Given the description of an element on the screen output the (x, y) to click on. 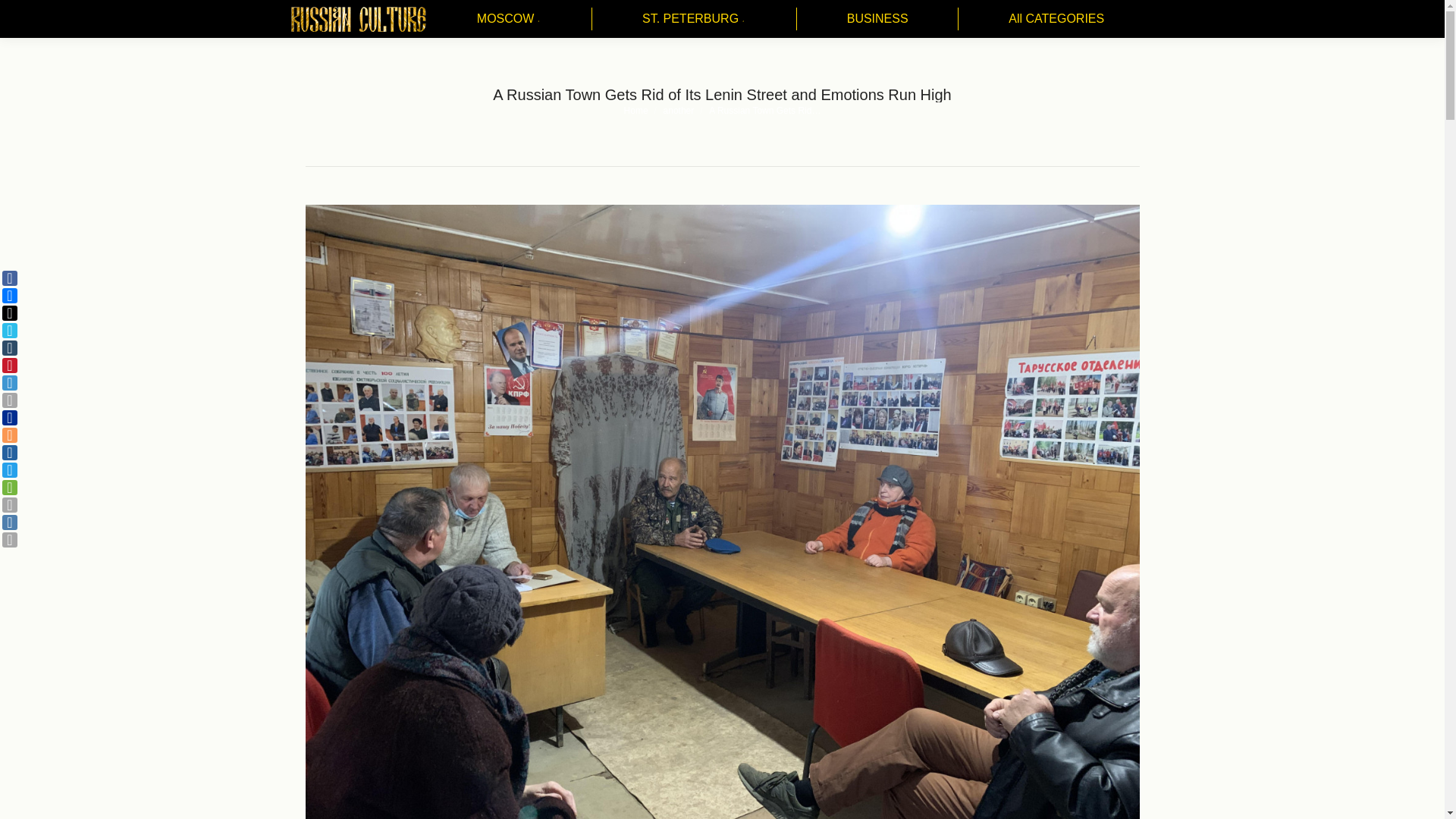
Home (635, 109)
another (678, 109)
All CATEGORIES (1056, 18)
Home (635, 109)
BUSINESS (877, 18)
MOSCOW (509, 18)
ST. PETERBURG (694, 18)
another (678, 109)
